Given the description of an element on the screen output the (x, y) to click on. 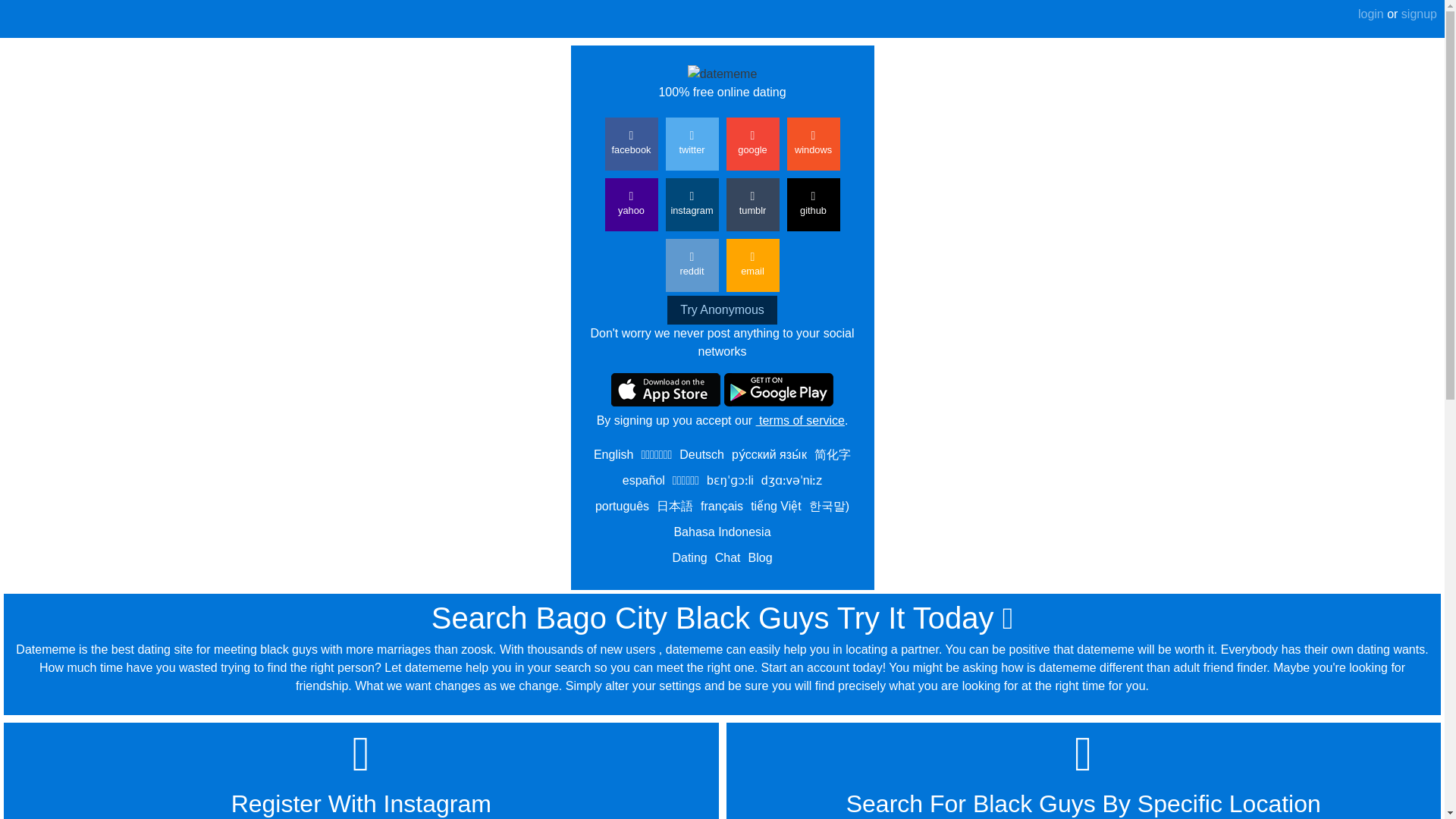
Dating (688, 557)
facebook (631, 143)
home (103, 16)
email (752, 265)
 signup (1417, 14)
login (1371, 14)
 terms of service (799, 420)
tumblr (752, 204)
github (813, 204)
Blog (759, 557)
google (752, 143)
Try Anonymous (721, 309)
reddit (692, 265)
yahoo (631, 204)
Try Anonymous (721, 309)
